Given the description of an element on the screen output the (x, y) to click on. 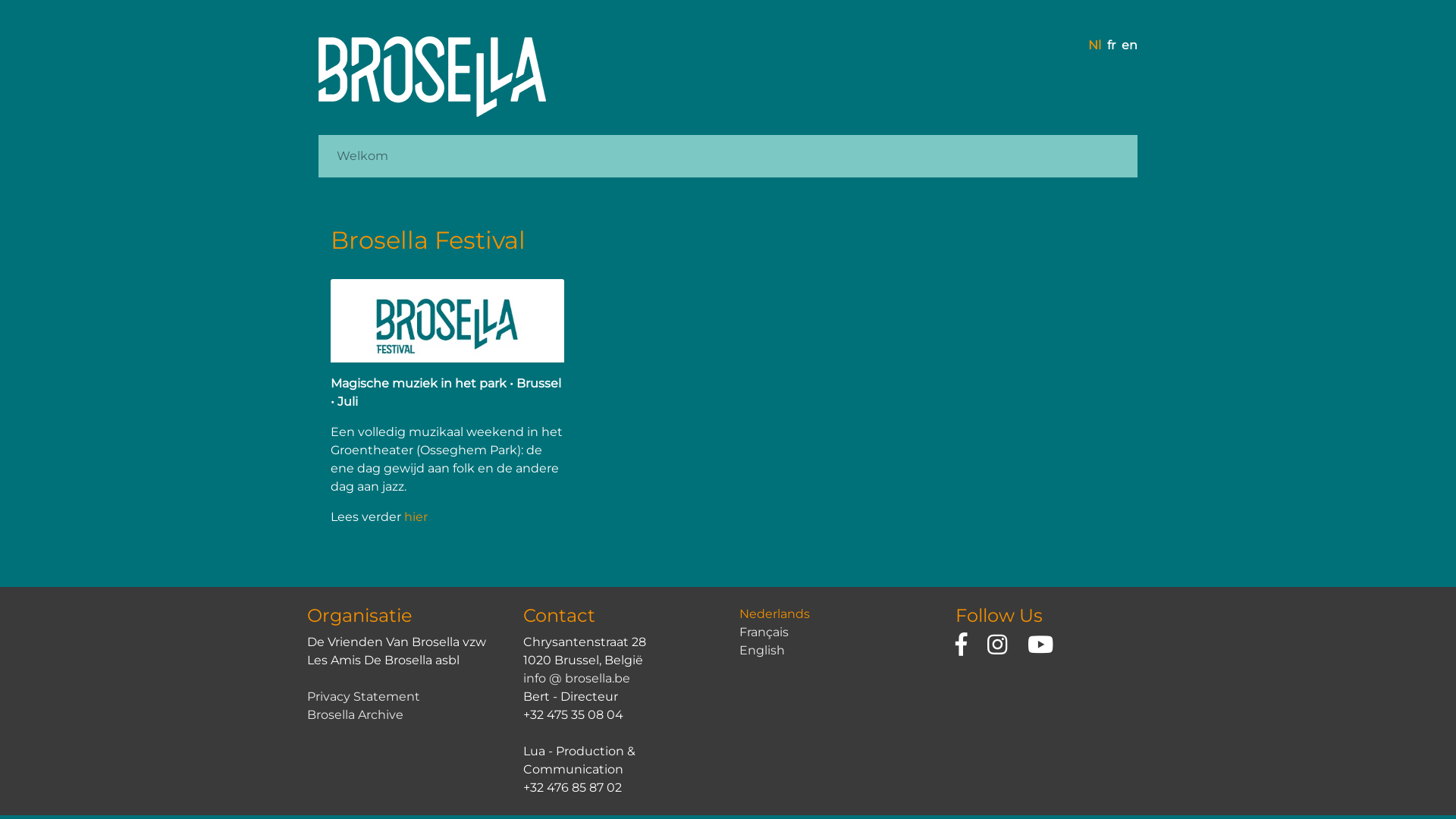
hier Element type: text (415, 516)
Brosella Archive Element type: text (355, 713)
English Element type: text (761, 650)
Fr Element type: text (1111, 44)
Privacy Statement Element type: text (363, 695)
Nederlands Element type: text (774, 613)
info @ brosella.be Element type: text (576, 677)
En Element type: text (1129, 44)
Welkom Element type: text (362, 156)
Nl Element type: text (1094, 44)
